Given the description of an element on the screen output the (x, y) to click on. 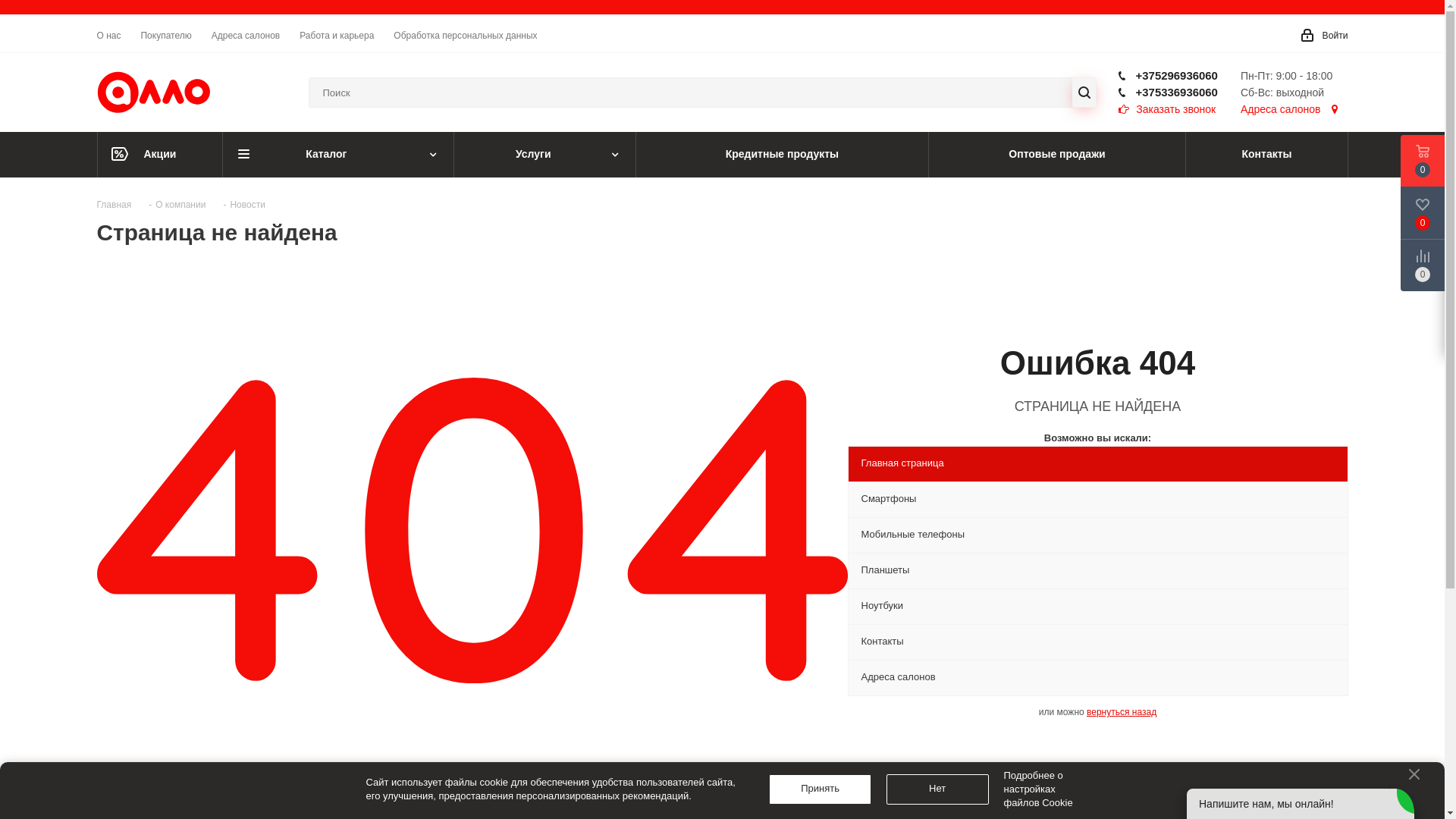
+375296936060 Element type: text (1176, 75)
+375336936060 Element type: text (1176, 91)
